Given the description of an element on the screen output the (x, y) to click on. 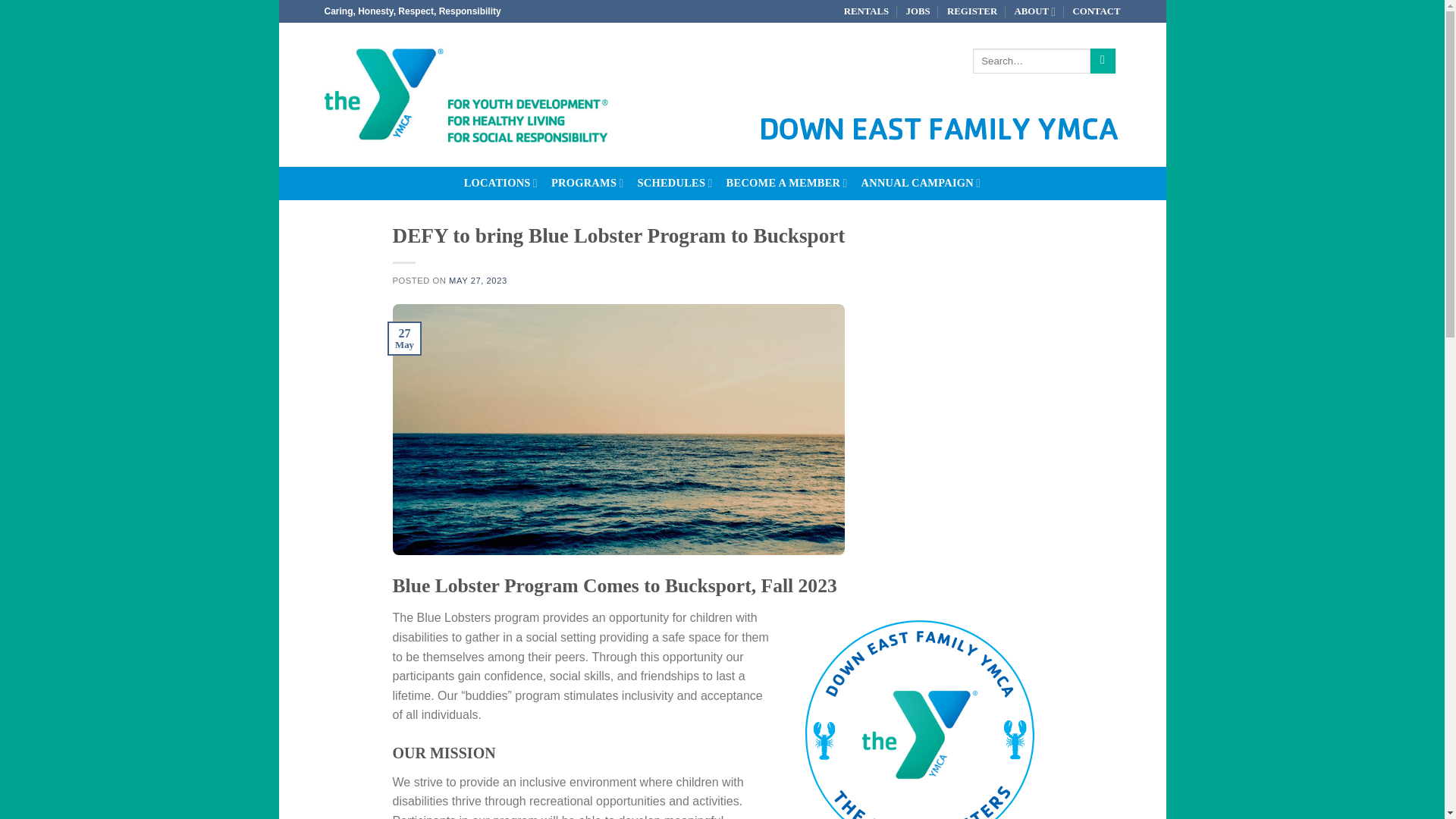
LOCATIONS (500, 183)
PROGRAMS (587, 183)
